Given the description of an element on the screen output the (x, y) to click on. 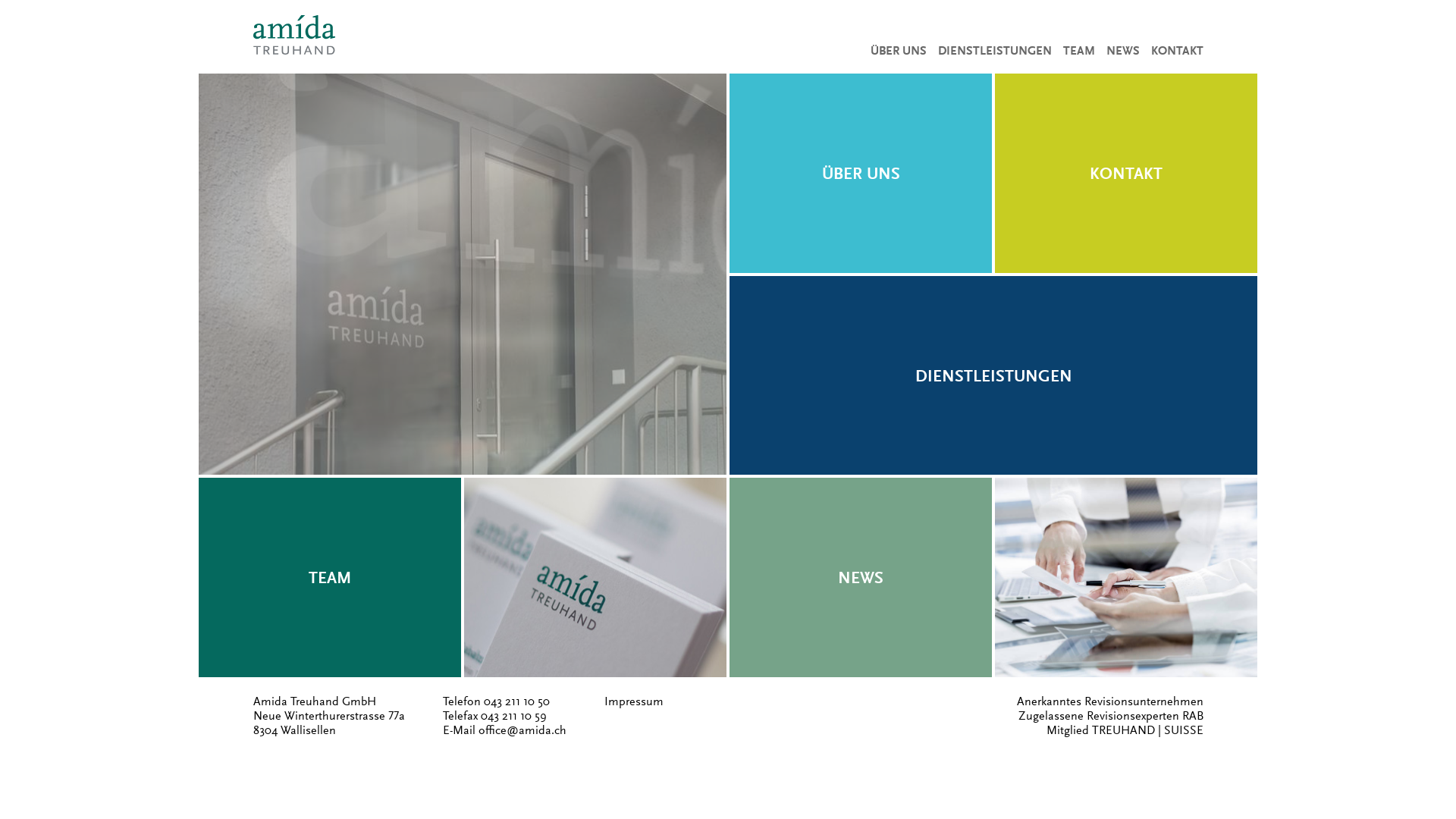
TEAM Element type: text (1072, 50)
Impressum Element type: text (632, 700)
KONTAKT Element type: text (1170, 50)
RAB Element type: text (1191, 715)
TREUHAND | SUISSE Element type: text (1147, 729)
office@amida.ch Element type: text (521, 729)
NEWS Element type: text (1117, 50)
043 211 10 50 Element type: text (516, 700)
DIENSTLEISTUNGEN Element type: text (988, 50)
